Given the description of an element on the screen output the (x, y) to click on. 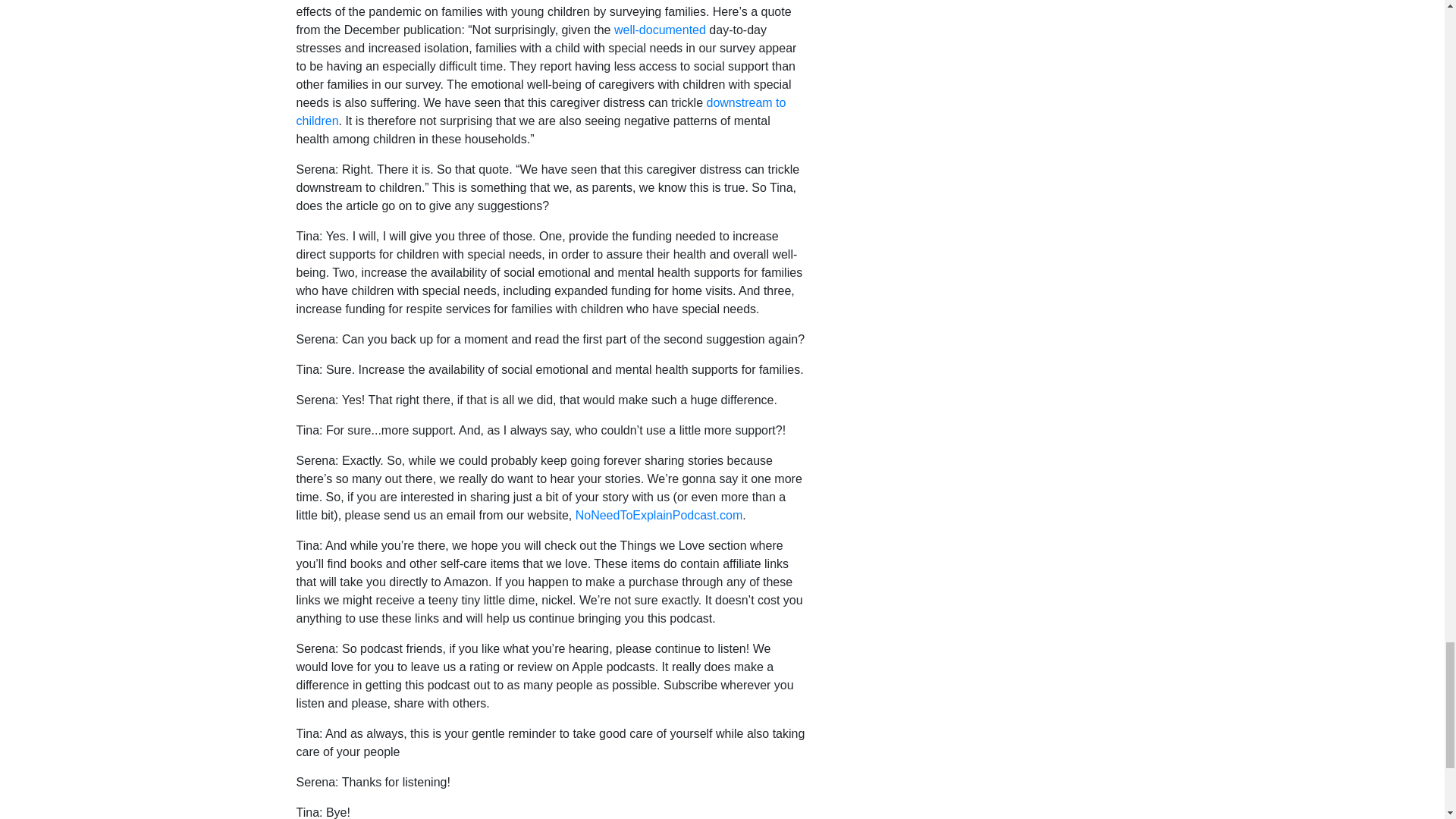
downstream to children (540, 111)
NoNeedToExplainPodcast.com (658, 514)
well-documented (660, 29)
